Given the description of an element on the screen output the (x, y) to click on. 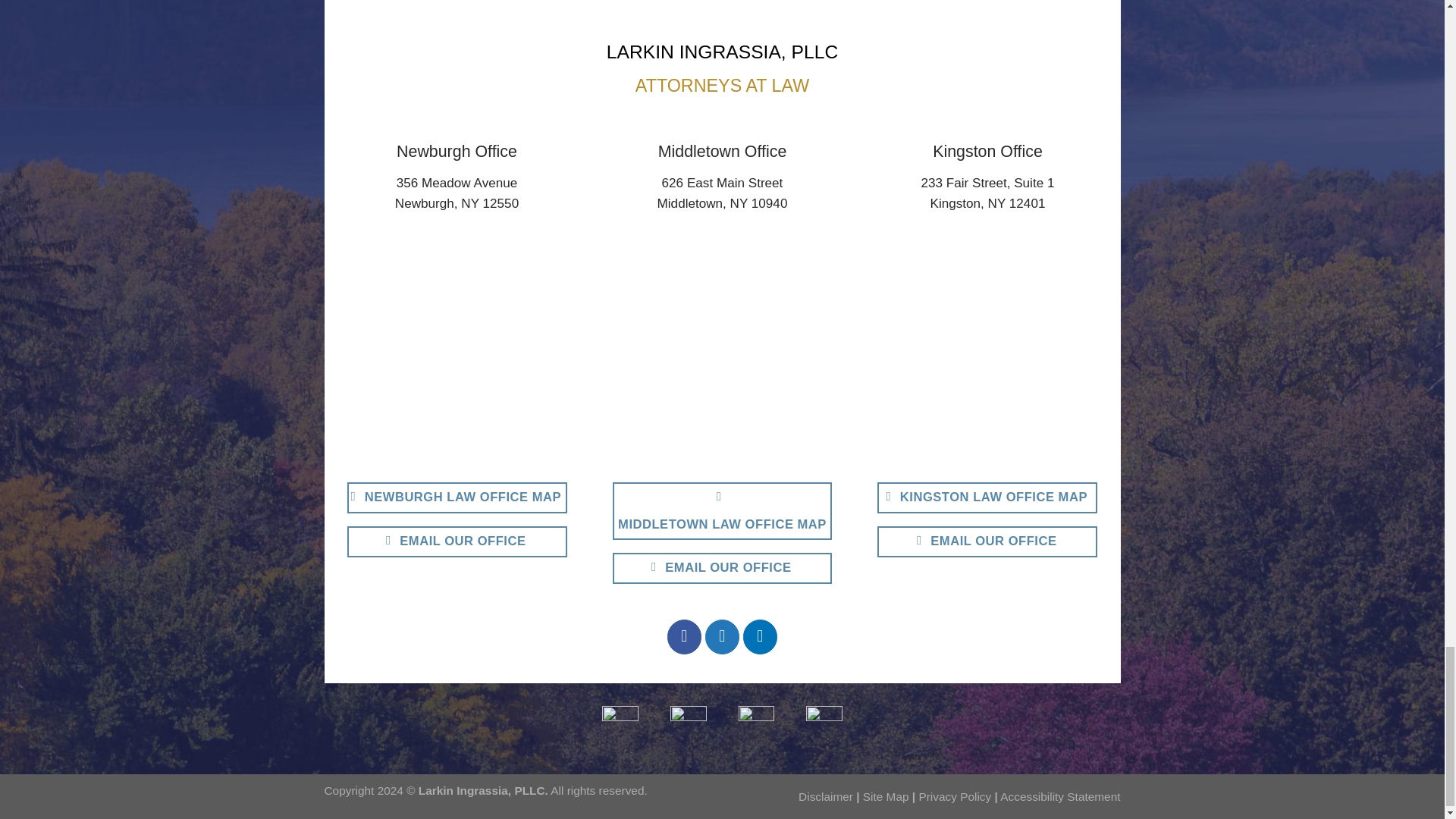
Follow on Twitter (721, 636)
EMAIL OUR OFFICE (457, 541)
KINGSTON LAW OFFICE MAP (987, 498)
EMAIL OUR OFFICE (987, 541)
MIDDLETOWN LAW OFFICE MAP (722, 511)
Follow on LinkedIn (759, 636)
NEWBURGH LAW OFFICE MAP (457, 498)
EMAIL OUR OFFICE (722, 568)
Follow on Facebook (683, 636)
